Given the description of an element on the screen output the (x, y) to click on. 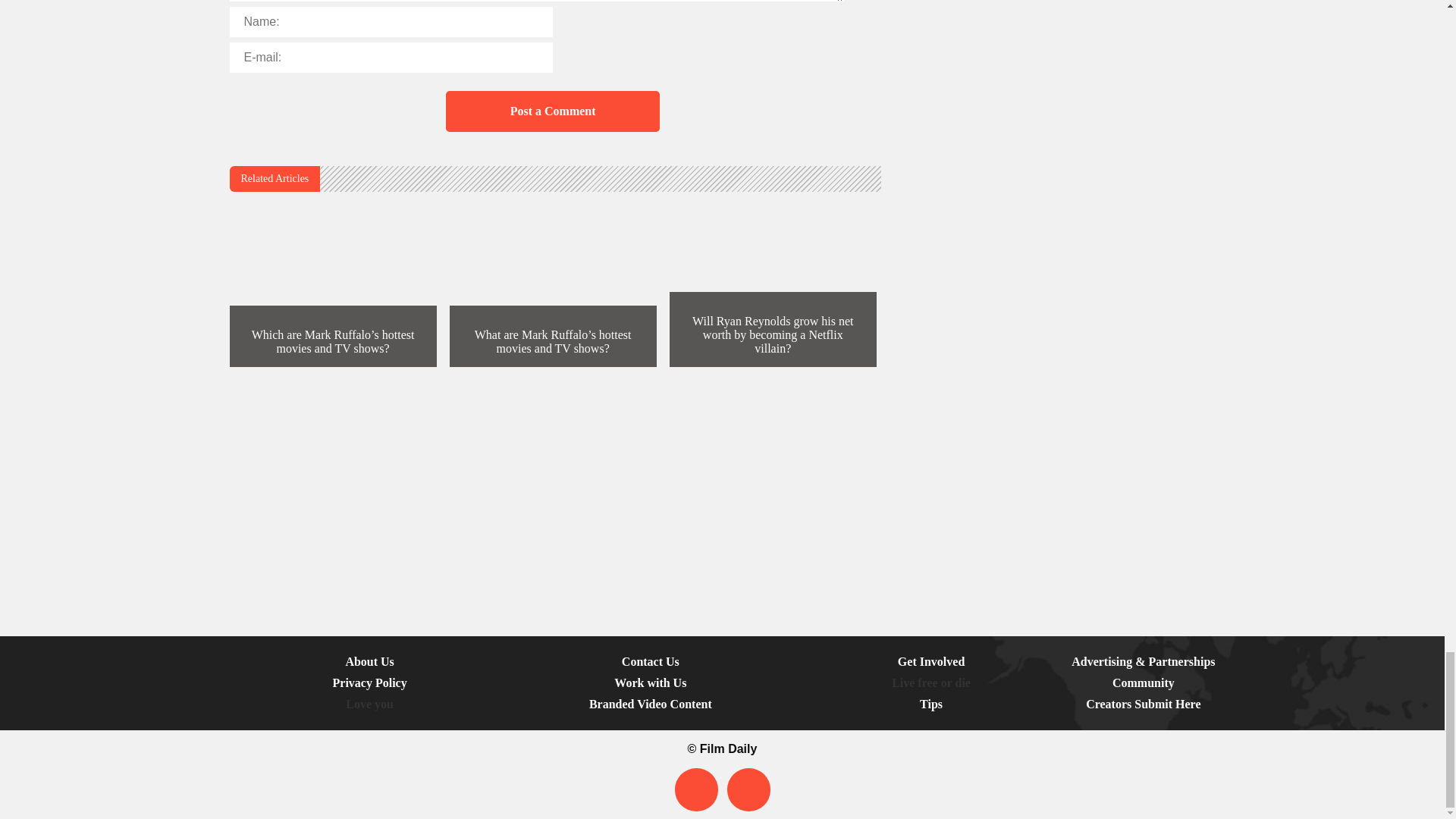
Post a Comment (552, 110)
